Given the description of an element on the screen output the (x, y) to click on. 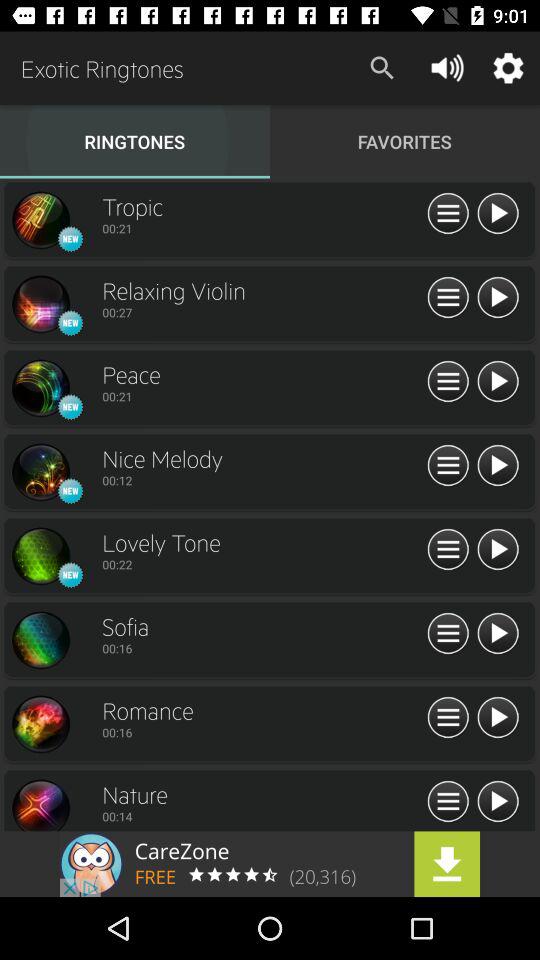
play ringtone (497, 297)
